Given the description of an element on the screen output the (x, y) to click on. 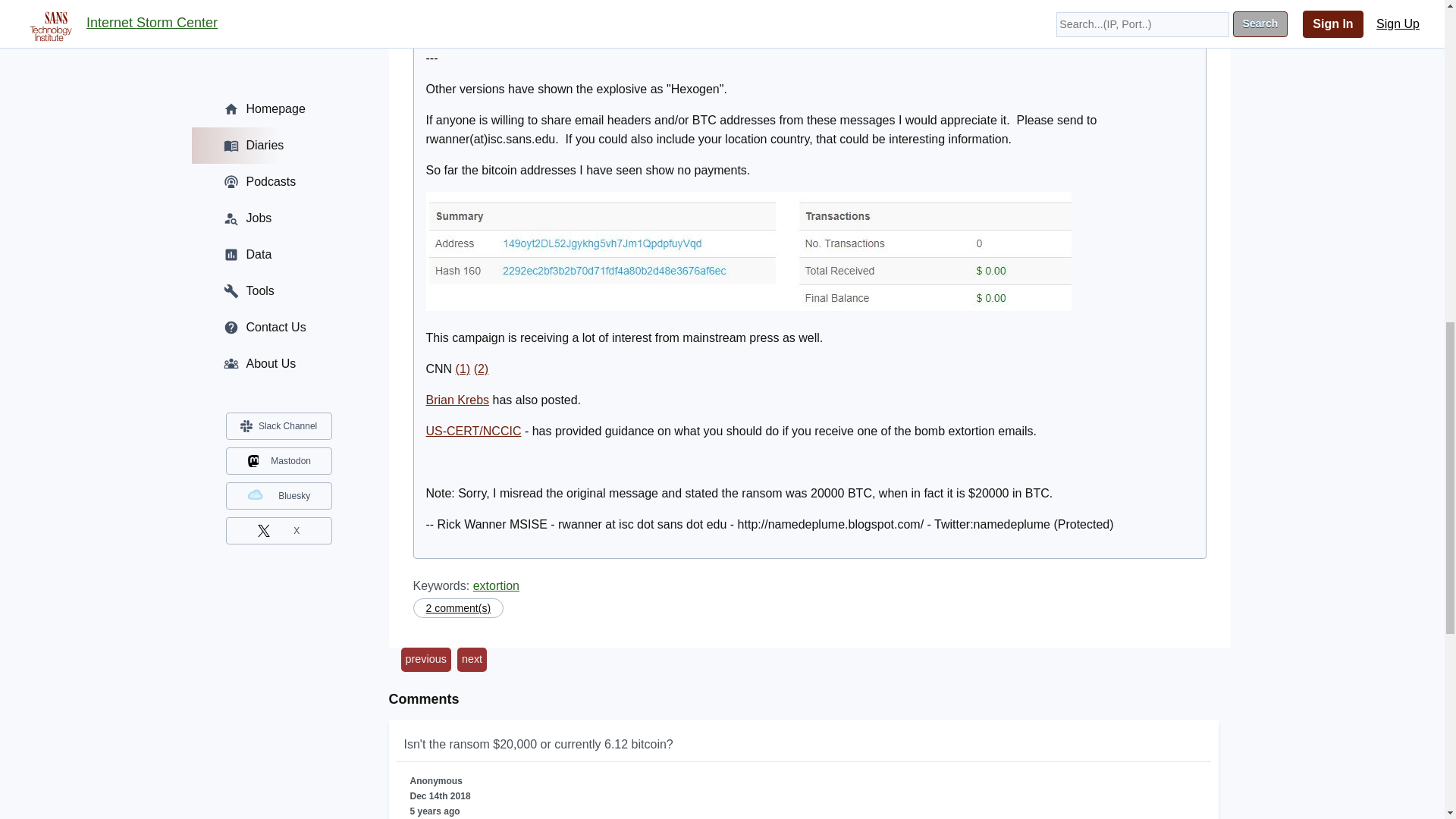
extortion (496, 585)
next (471, 659)
Brian Krebs (457, 399)
previous (424, 659)
